Given the description of an element on the screen output the (x, y) to click on. 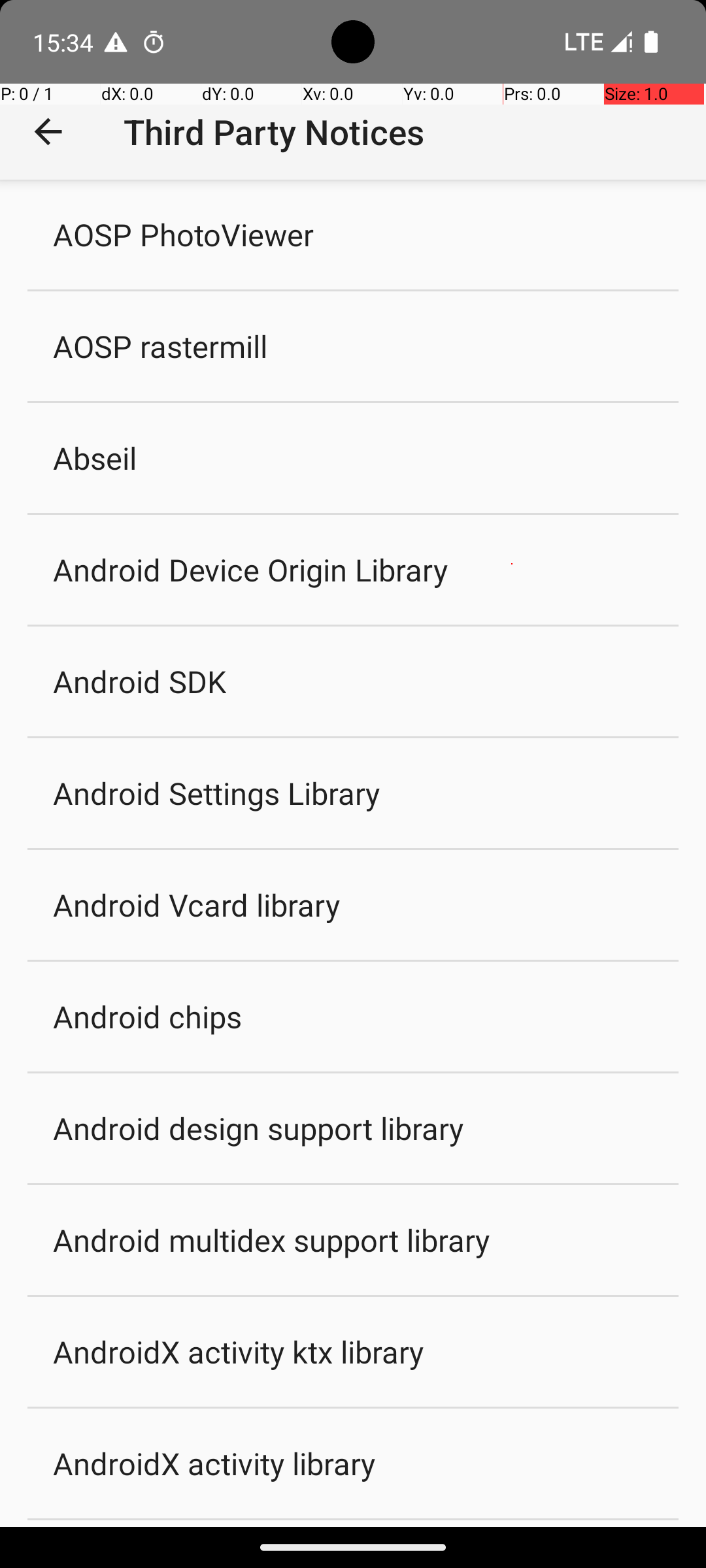
Third Party Notices Element type: android.widget.TextView (273, 131)
AOSP PhotoViewer Element type: android.widget.TextView (183, 233)
AOSP rastermill Element type: android.widget.TextView (159, 345)
Abseil Element type: android.widget.TextView (94, 457)
Android Device Origin Library Element type: android.widget.TextView (249, 568)
Android SDK Element type: android.widget.TextView (139, 680)
Android Settings Library Element type: android.widget.TextView (216, 792)
Android Vcard library Element type: android.widget.TextView (195, 904)
Android chips Element type: android.widget.TextView (146, 1015)
Android design support library Element type: android.widget.TextView (258, 1127)
Android multidex support library Element type: android.widget.TextView (271, 1239)
AndroidX activity ktx library Element type: android.widget.TextView (238, 1351)
AndroidX activity library Element type: android.widget.TextView (213, 1462)
